Given the description of an element on the screen output the (x, y) to click on. 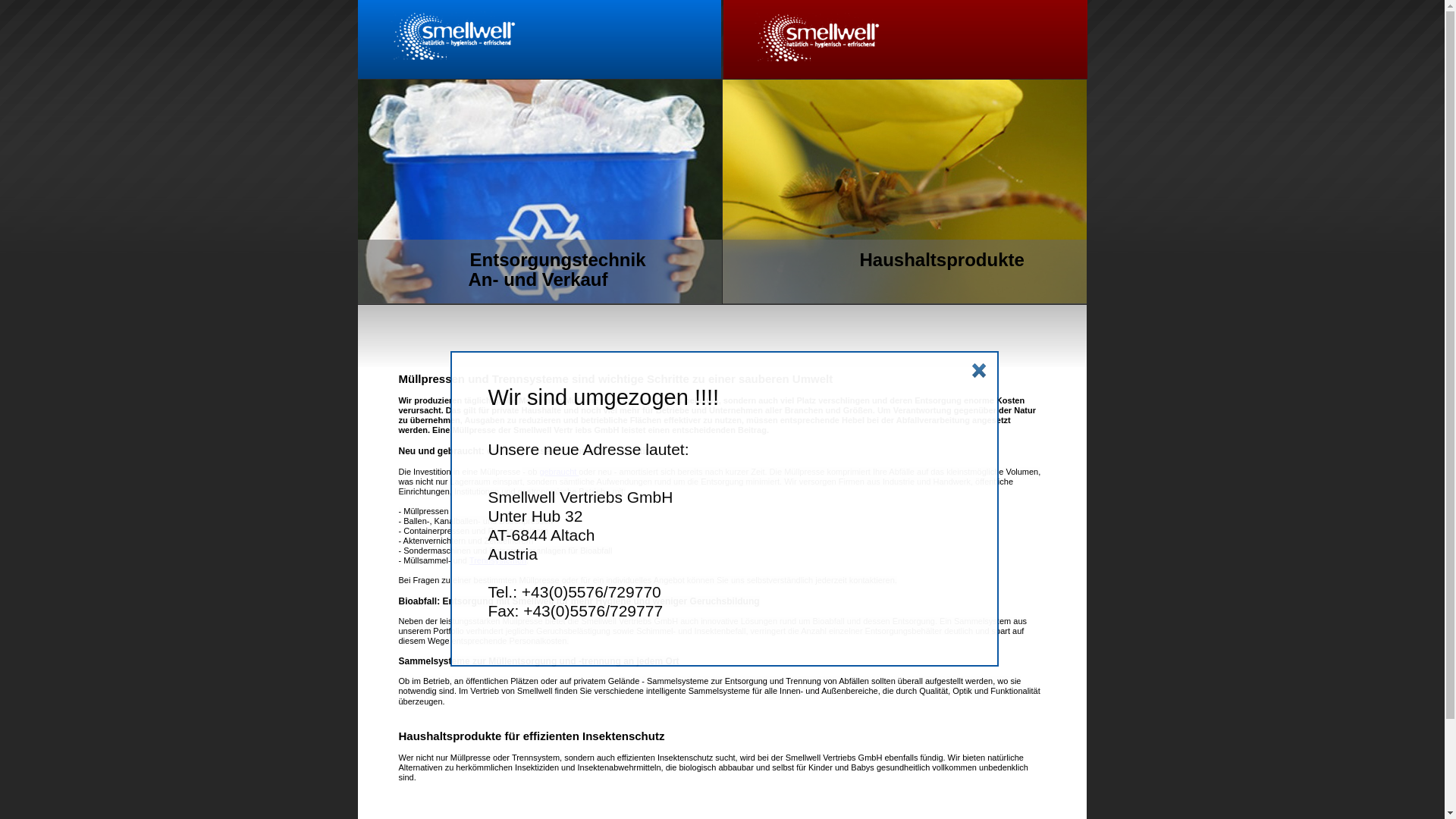
Trennsystemen Element type: text (497, 559)
gebraucht Element type: text (558, 471)
